Given the description of an element on the screen output the (x, y) to click on. 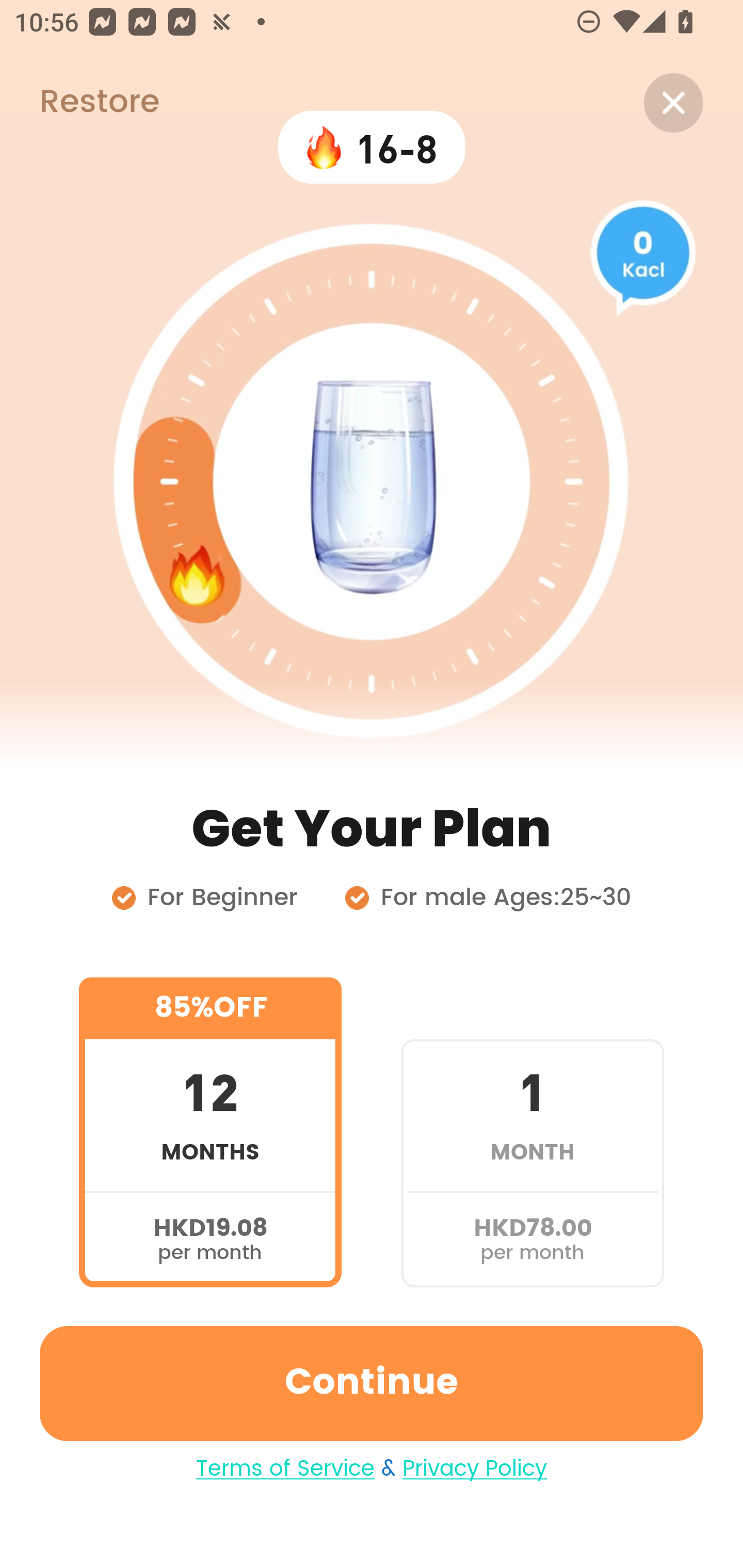
Restore (79, 102)
85%OFF 12 MONTHS per month HKD19.08 (209, 1131)
1 MONTH per month HKD78.00 (532, 1131)
Continue (371, 1383)
